Given the description of an element on the screen output the (x, y) to click on. 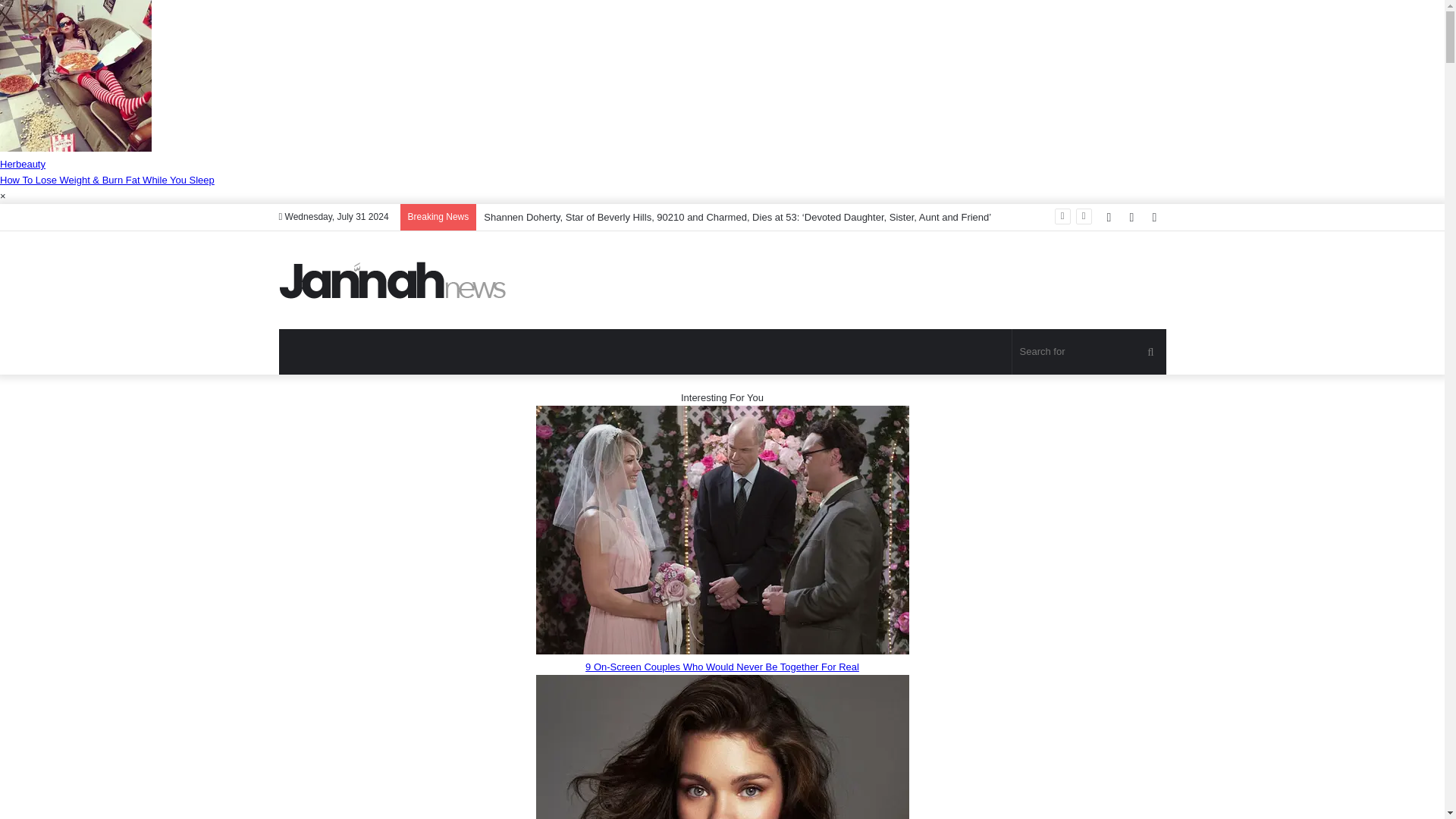
Search for (1088, 351)
Movie News (392, 279)
